Given the description of an element on the screen output the (x, y) to click on. 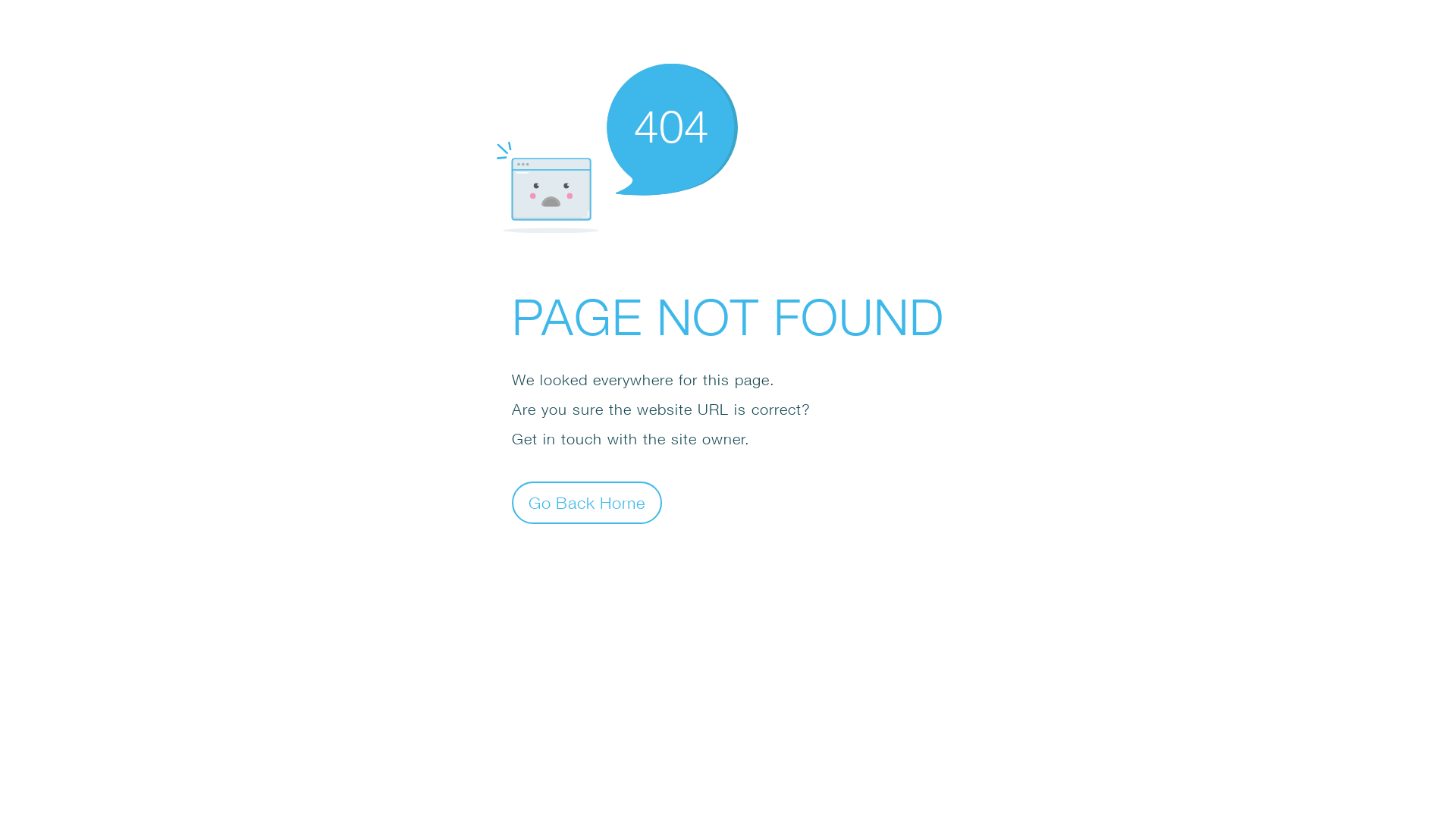
Go Back Home Element type: text (586, 502)
